Given the description of an element on the screen output the (x, y) to click on. 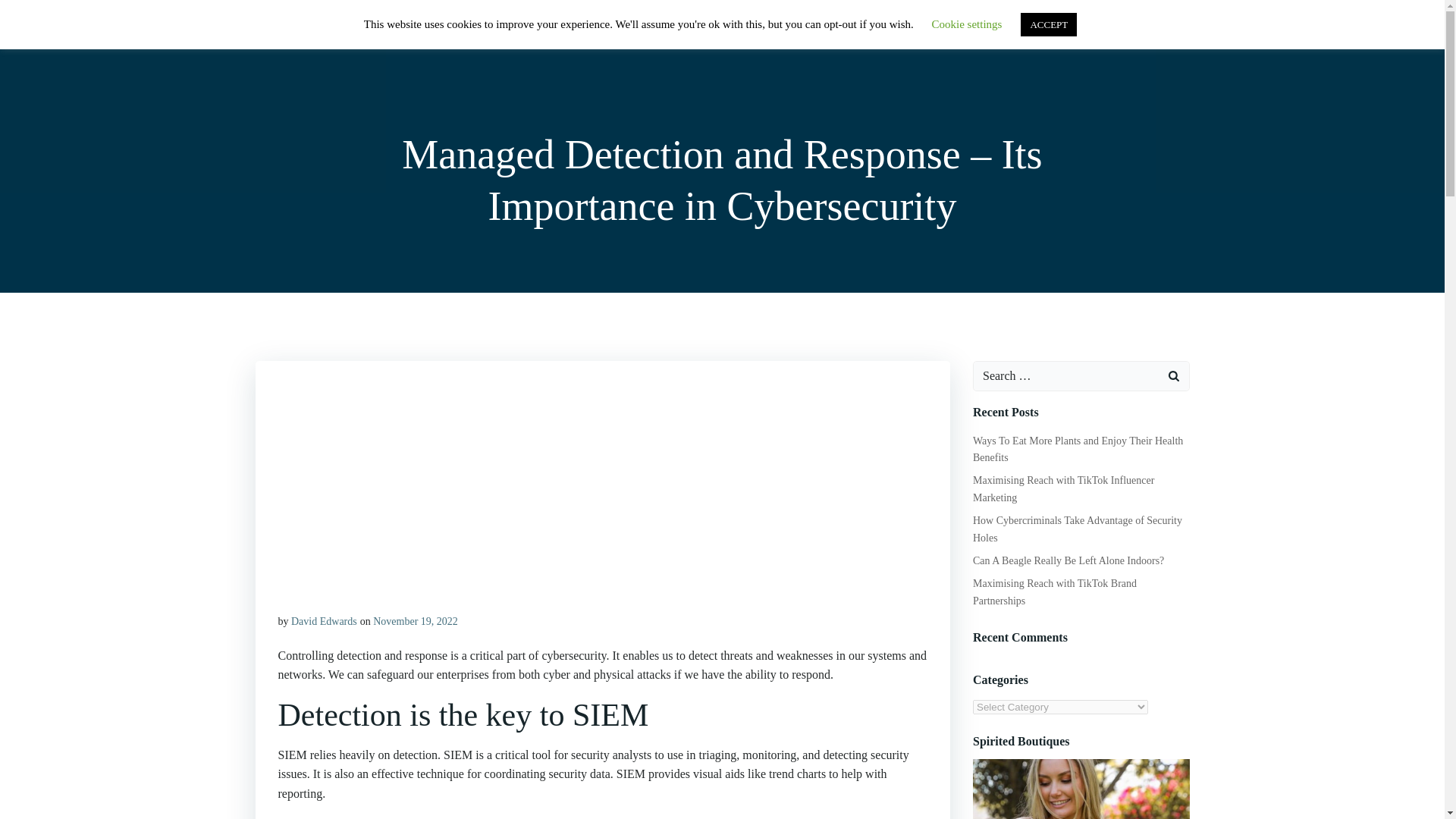
Security Innovator (322, 33)
How Cybercriminals Take Advantage of Security Holes (1077, 528)
David Edwards (323, 621)
Ways To Eat More Plants and Enjoy Their Health Benefits (1077, 448)
Search  (29, 14)
Maximising Reach with TikTok Influencer Marketing (1063, 488)
Maximising Reach with TikTok Brand Partnerships (1054, 592)
Can A Beagle Really Be Left Alone Indoors? (1067, 560)
BLOG (1009, 33)
November 19, 2022 (415, 621)
LEGAL (1147, 33)
Cookie settings (967, 24)
Colibri (881, 773)
ABOUT (1074, 33)
ACCEPT (1048, 24)
